Given the description of an element on the screen output the (x, y) to click on. 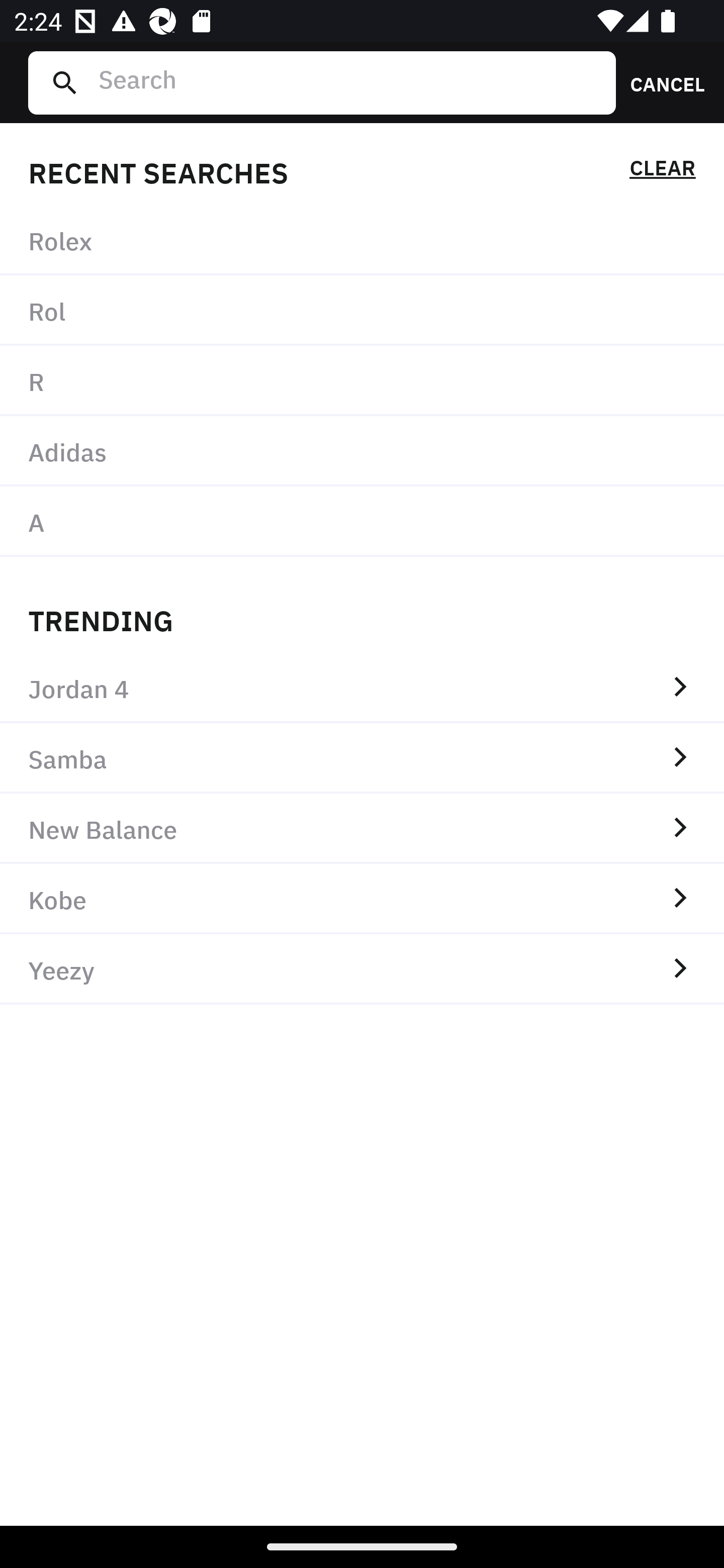
CANCEL (660, 82)
Search (349, 82)
CLEAR (662, 170)
Rolex (362, 240)
Rol (362, 310)
R (362, 380)
Adidas (362, 450)
A (362, 521)
Jordan 4  (362, 687)
Samba  (362, 757)
New Balance  (362, 828)
Kobe  (362, 898)
Yeezy  (362, 969)
